Given the description of an element on the screen output the (x, y) to click on. 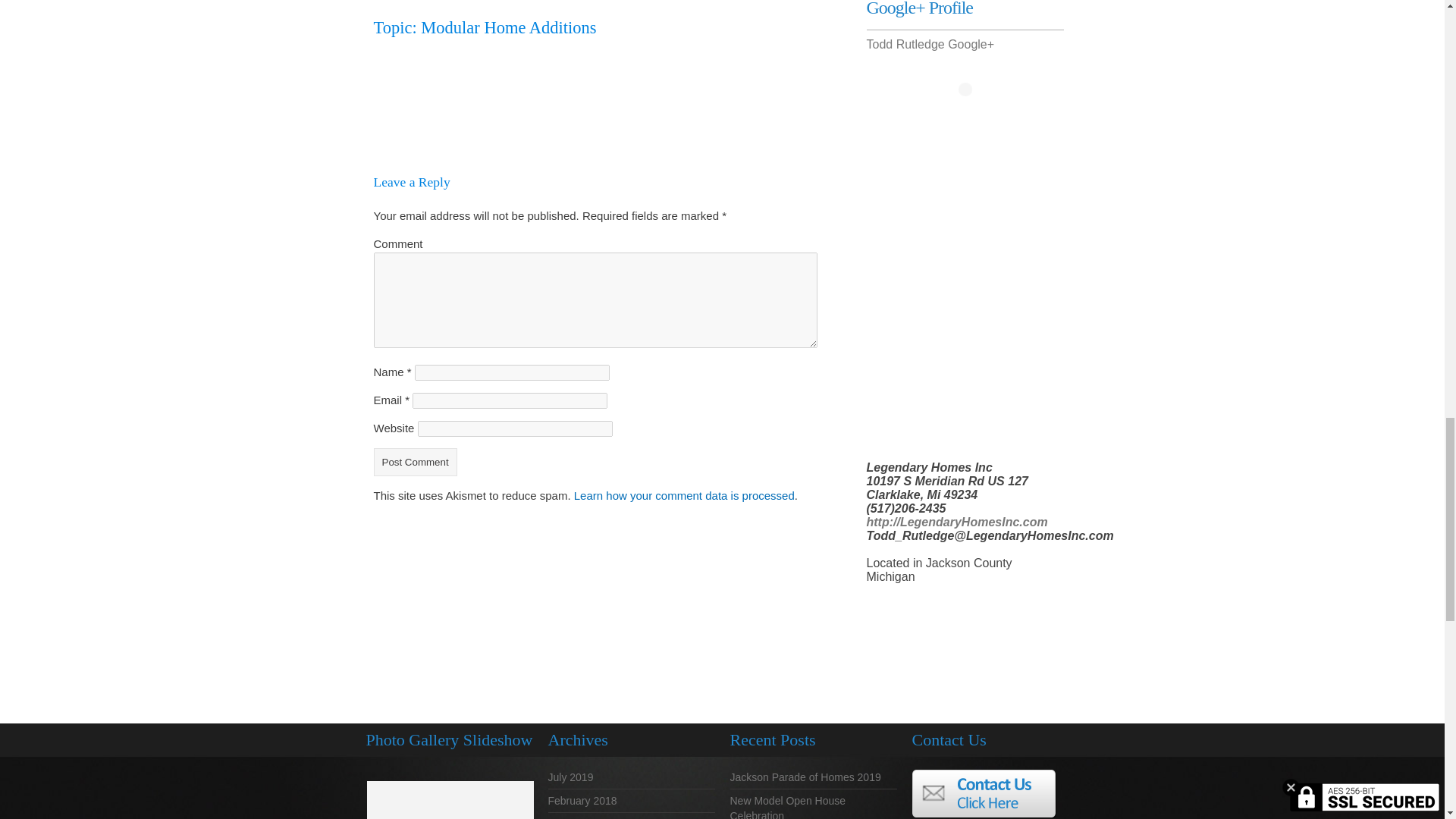
Post Comment (414, 461)
